Given the description of an element on the screen output the (x, y) to click on. 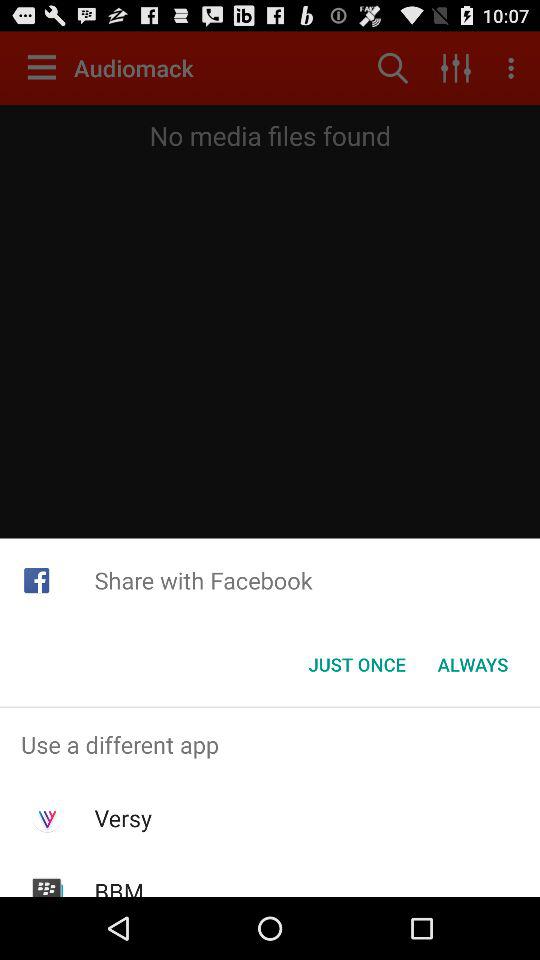
tap the item at the bottom right corner (472, 664)
